Given the description of an element on the screen output the (x, y) to click on. 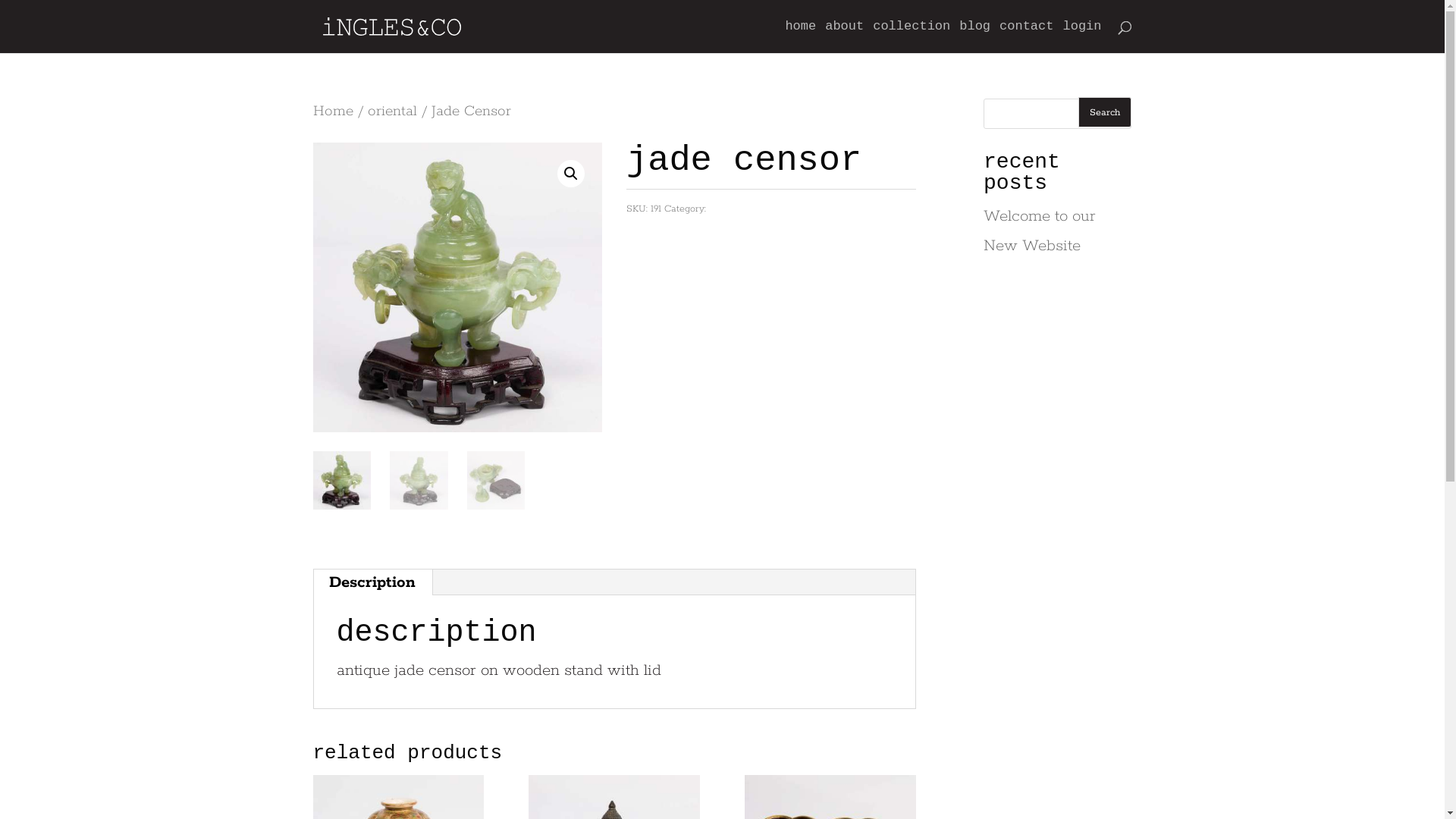
oriental Element type: text (726, 208)
login Element type: text (1081, 37)
blog Element type: text (974, 37)
Description Element type: text (372, 582)
home Element type: text (799, 37)
Home Element type: text (332, 111)
Welcome to our New Website Element type: text (1039, 230)
0191 Element type: hover (457, 287)
contact Element type: text (1026, 37)
collection Element type: text (911, 37)
about Element type: text (844, 37)
Search Element type: text (1104, 112)
oriental Element type: text (391, 111)
